Given the description of an element on the screen output the (x, y) to click on. 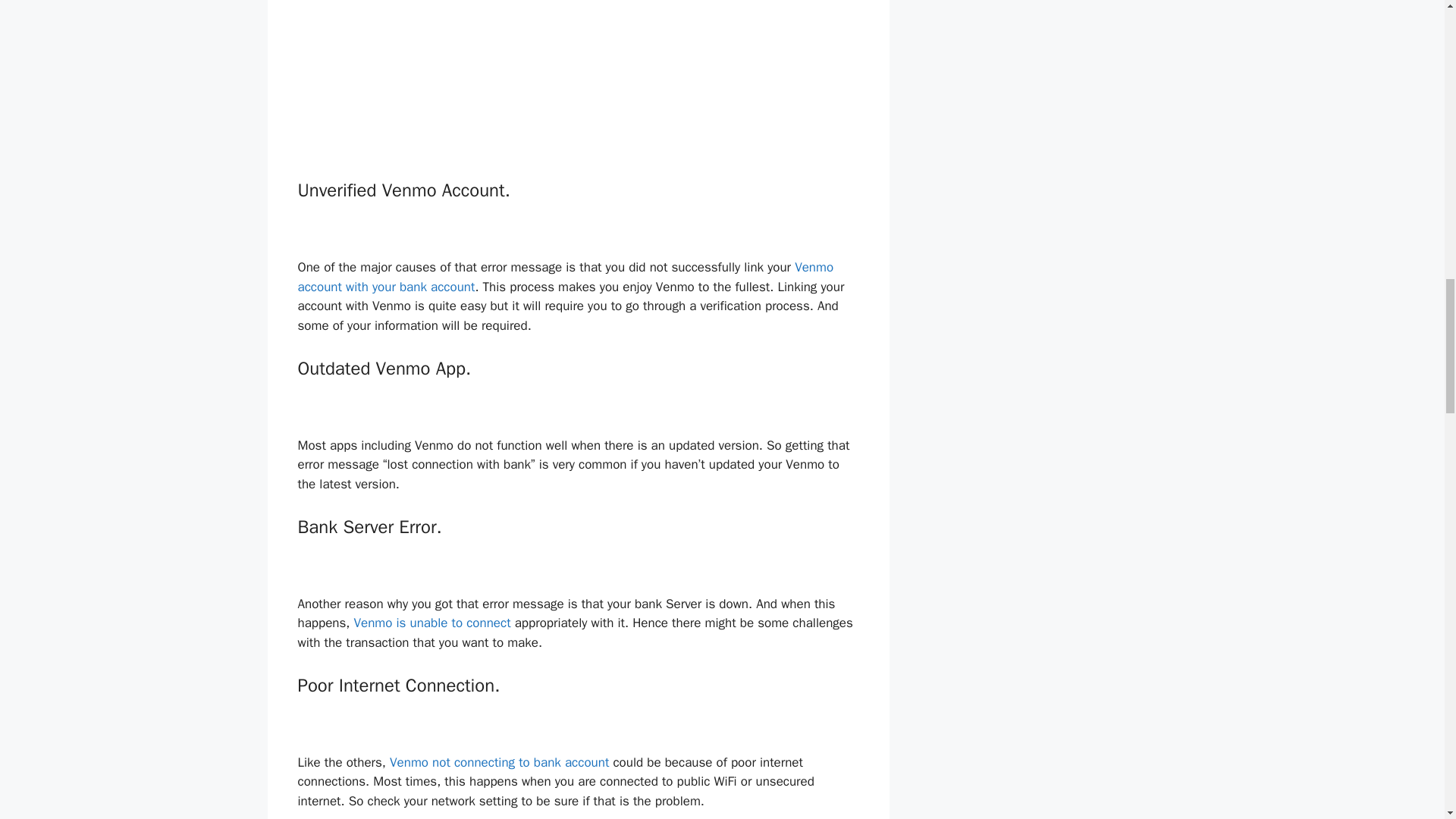
Venmo is unable to connect (432, 622)
Venmo not connecting to bank account (499, 762)
Venmo account with your bank account (564, 276)
